Given the description of an element on the screen output the (x, y) to click on. 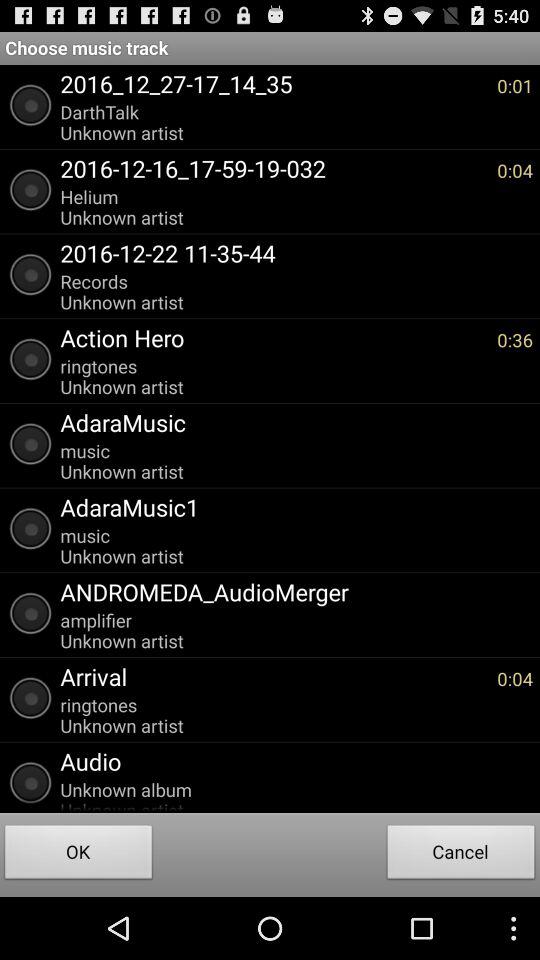
tap the app below ringtones
unknown artist item (291, 422)
